Given the description of an element on the screen output the (x, y) to click on. 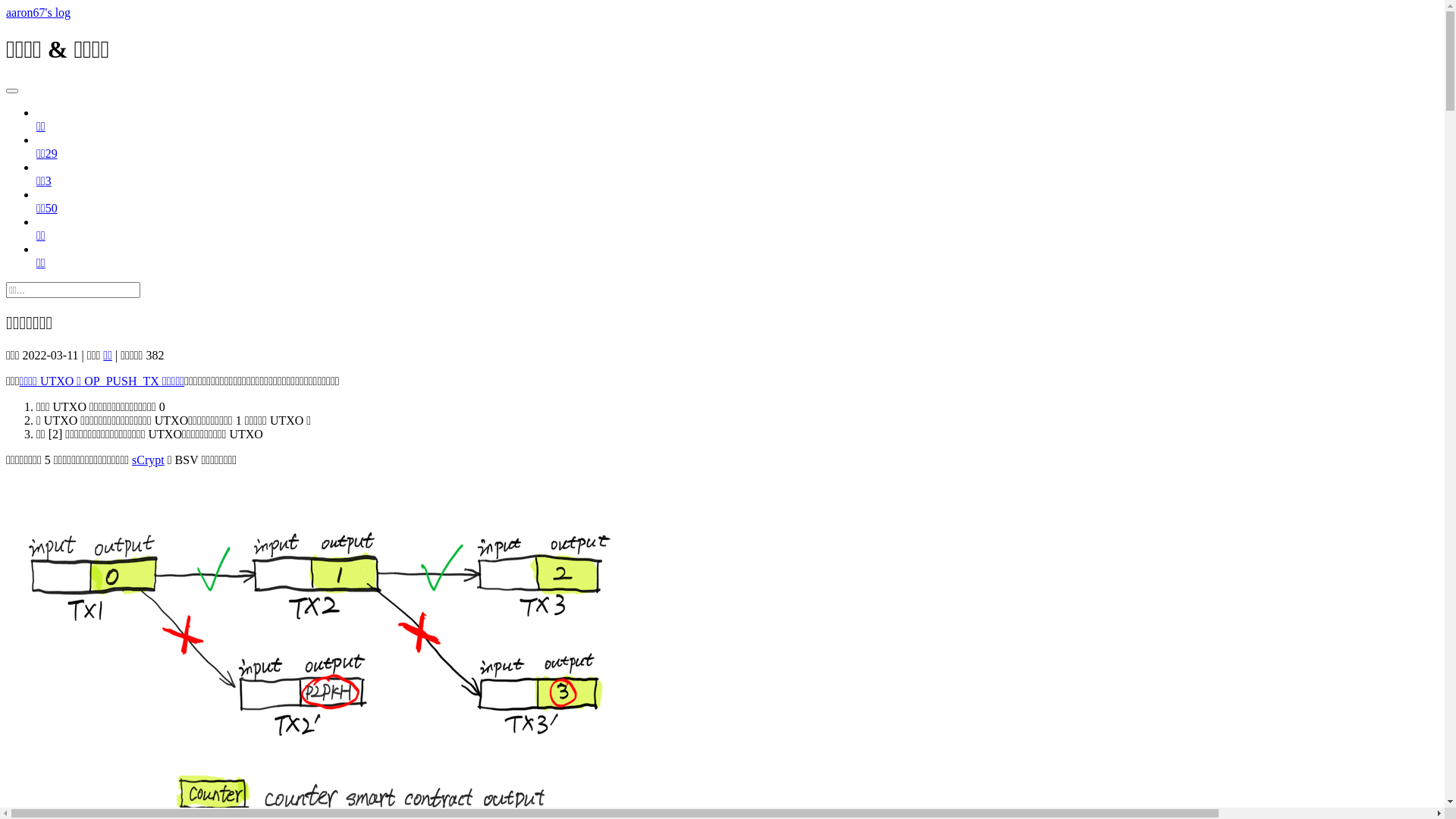
sCrypt Element type: text (147, 459)
aaron67's log Element type: text (38, 12)
